Given the description of an element on the screen output the (x, y) to click on. 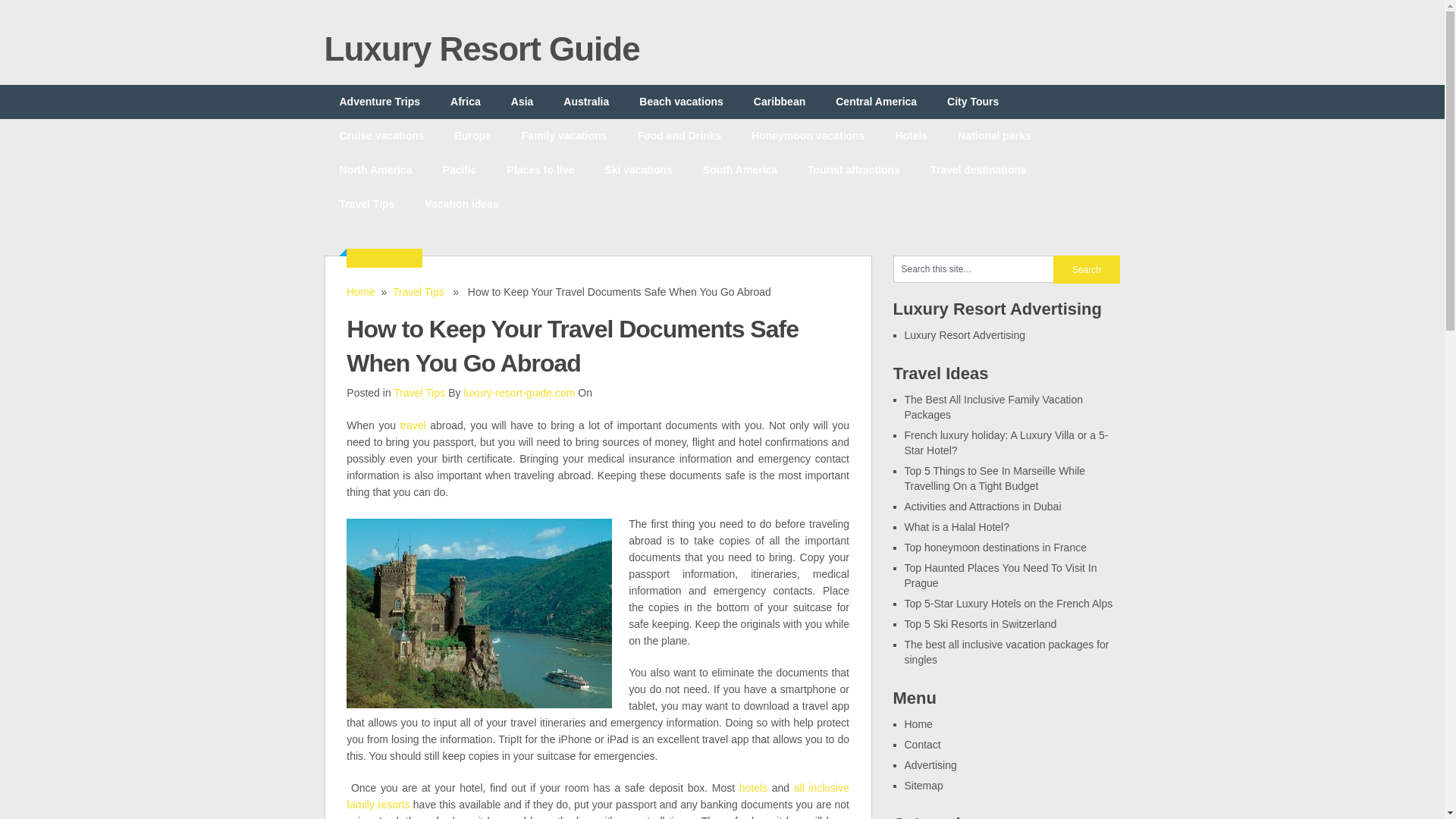
Posts by luxury-resort-guide.com (519, 392)
Asia (522, 101)
Europe (472, 135)
Central America (876, 101)
Travel Tips (419, 392)
Search (1085, 269)
Honeymoon vacations (807, 135)
North America (376, 170)
all inclusive family resorts (597, 796)
travel (411, 425)
National parks (993, 135)
Tourist attractions (853, 170)
Travel Tips (367, 204)
Family vacations (564, 135)
Cruise vacations (381, 135)
